Given the description of an element on the screen output the (x, y) to click on. 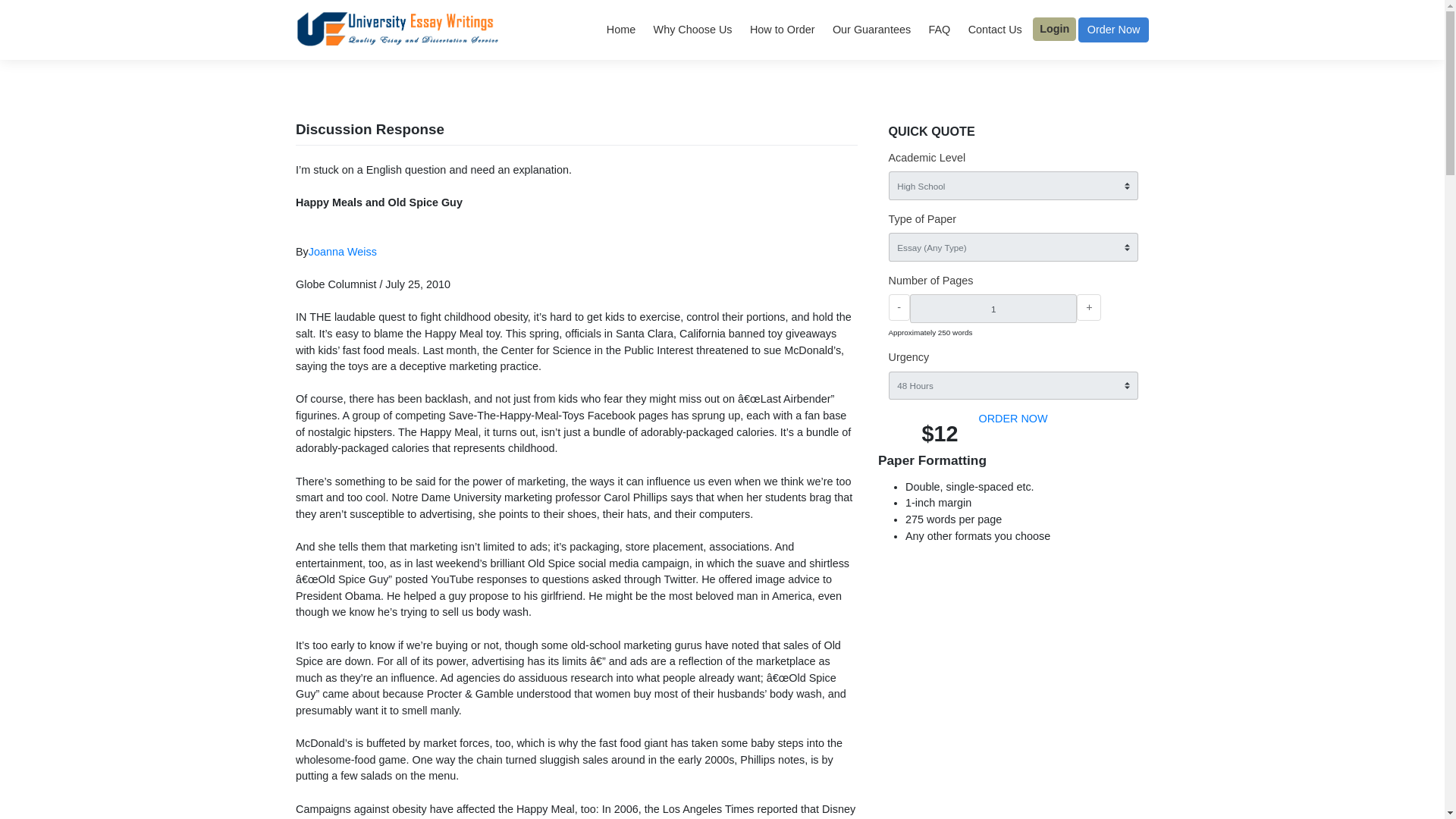
Login (1172, 32)
Home (689, 32)
FAQ (1043, 32)
FAQ (1043, 32)
Our Guarantees (968, 32)
Order Now (1237, 32)
Order Now (1237, 32)
Home (689, 32)
How to Order (869, 32)
Why Choose Us (769, 32)
Our Guarantees (968, 32)
Contact Us (1104, 32)
Login (1172, 32)
Contact Us (1104, 32)
1 (1103, 343)
